Given the description of an element on the screen output the (x, y) to click on. 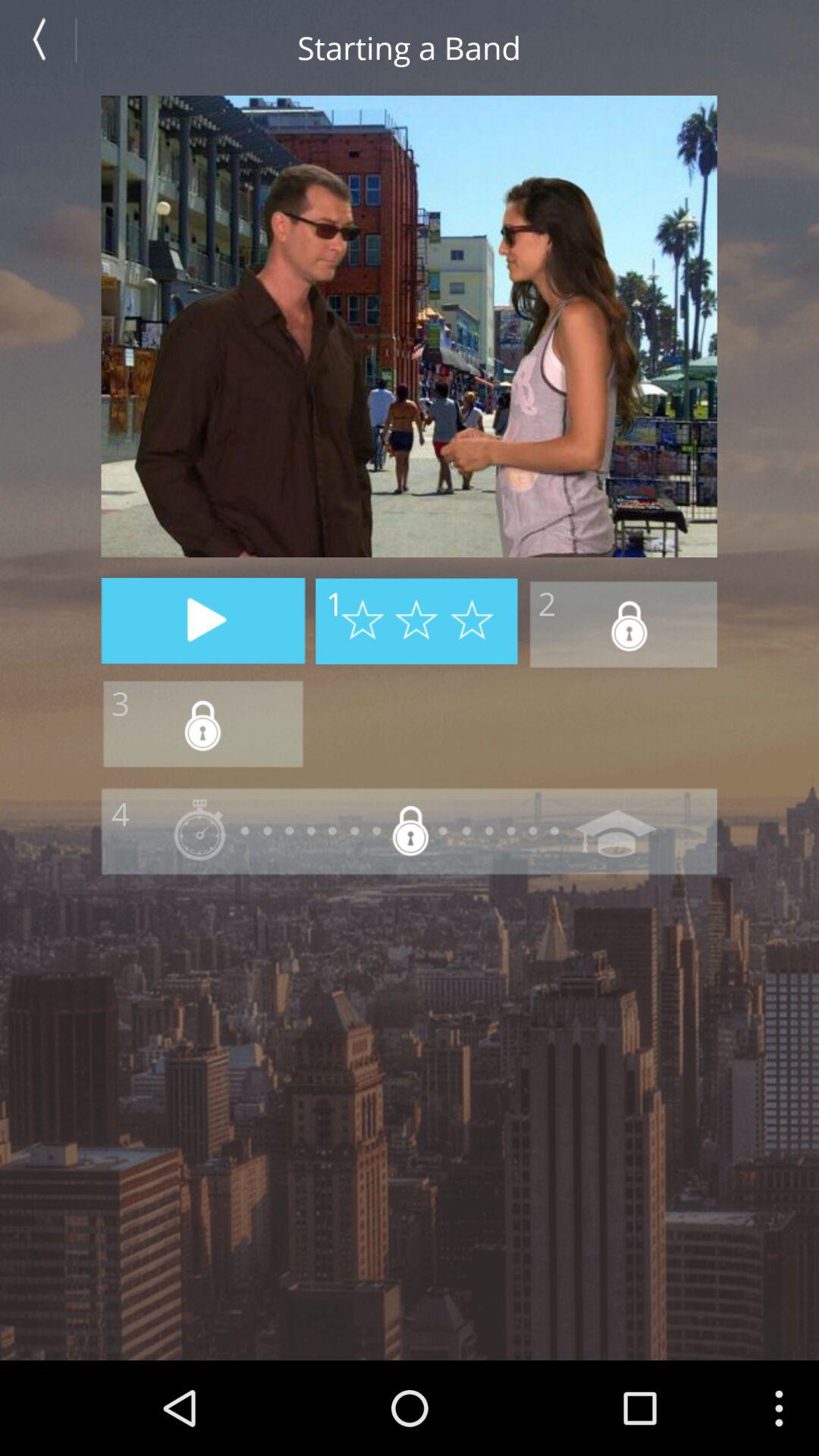
click to play option (203, 620)
